Given the description of an element on the screen output the (x, y) to click on. 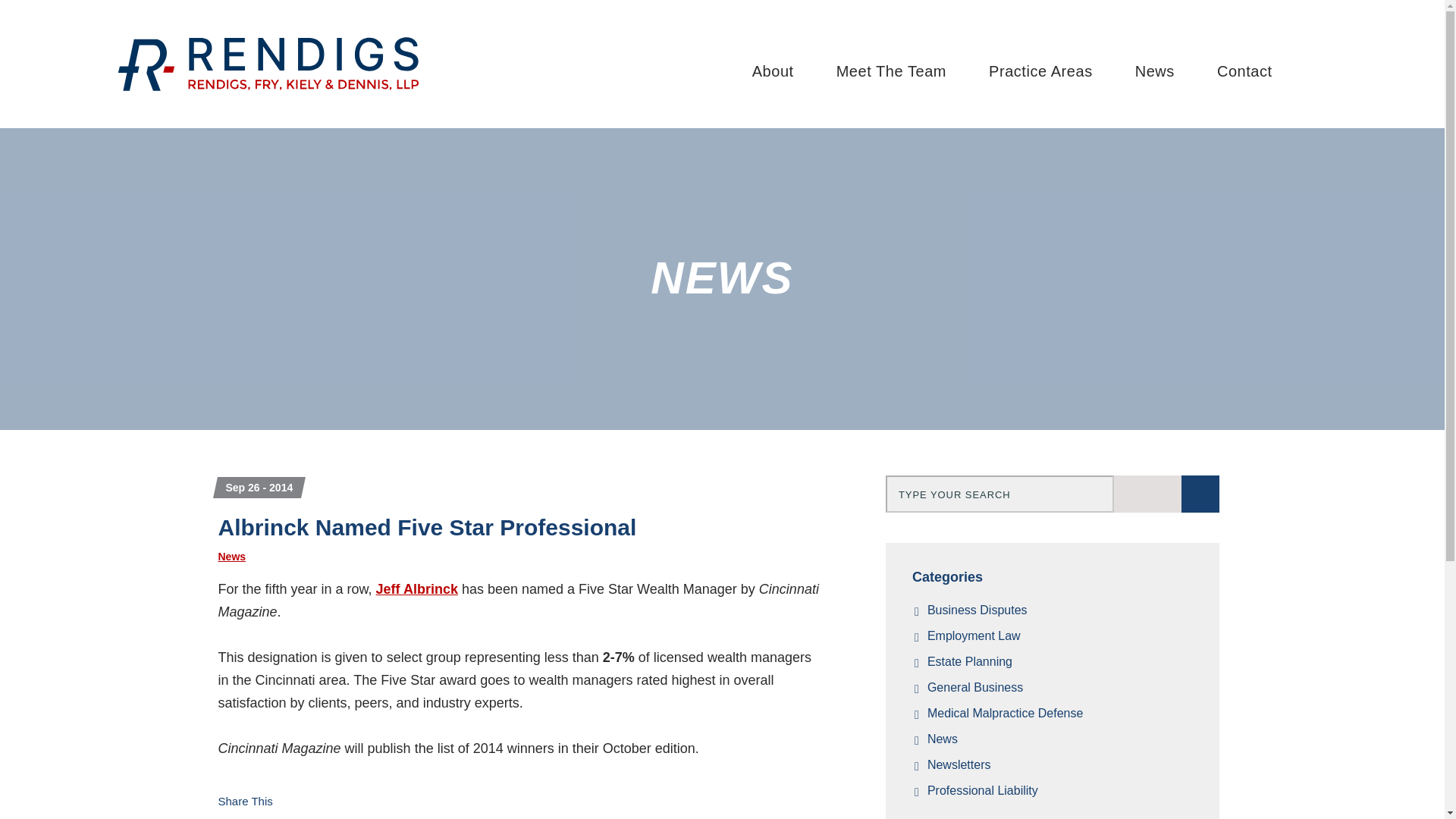
Meet The Team (890, 70)
News (1154, 70)
Jeff Albrinck (416, 589)
Share This (249, 800)
Practice Areas (1040, 70)
About (772, 70)
News (232, 556)
OPEN SITE SEARCH (1323, 71)
Contact (1244, 70)
Business Disputes (1059, 610)
